Given the description of an element on the screen output the (x, y) to click on. 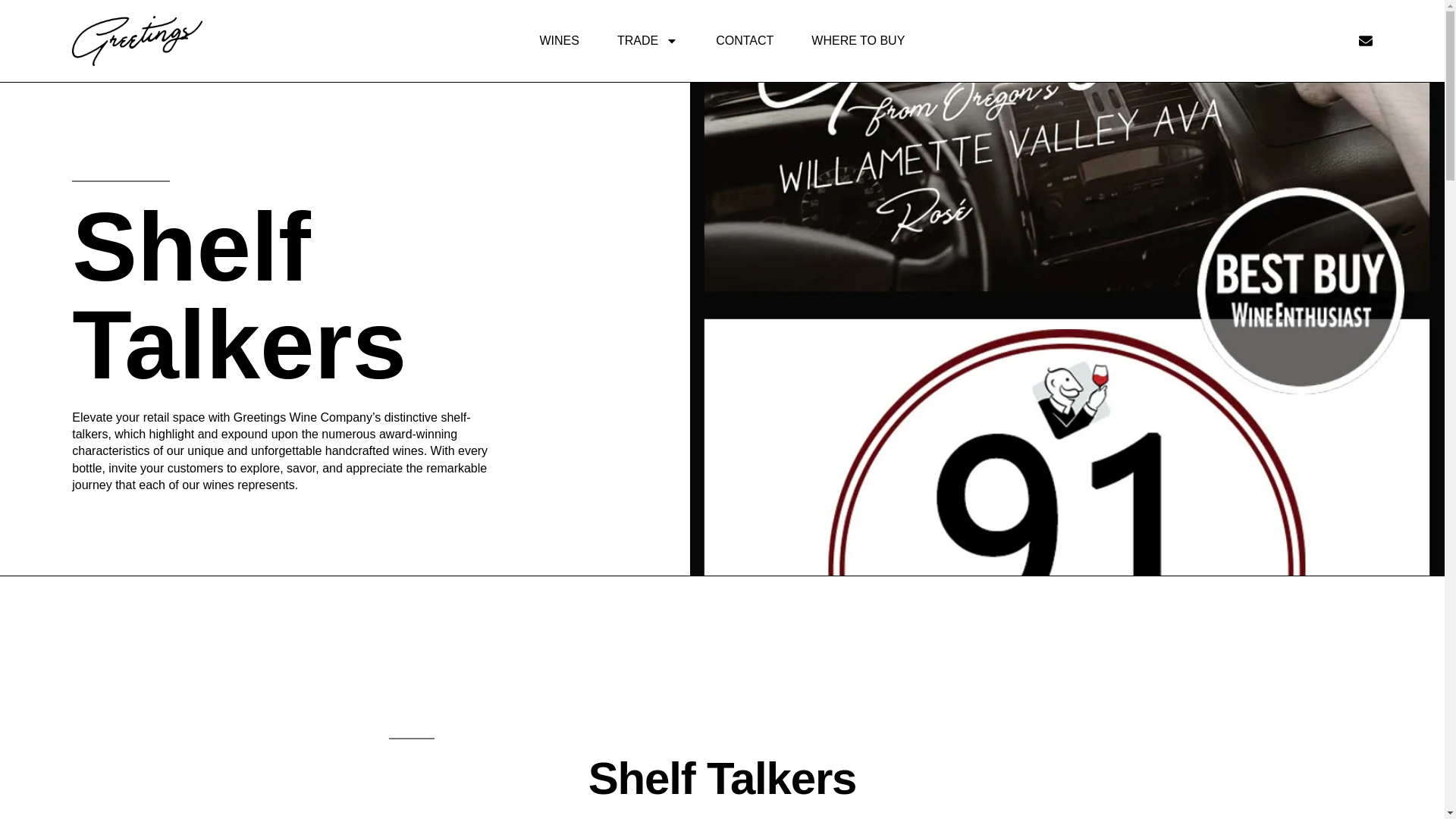
TRADE (647, 40)
WINES (559, 40)
WHERE TO BUY (857, 40)
CONTACT (744, 40)
